Given the description of an element on the screen output the (x, y) to click on. 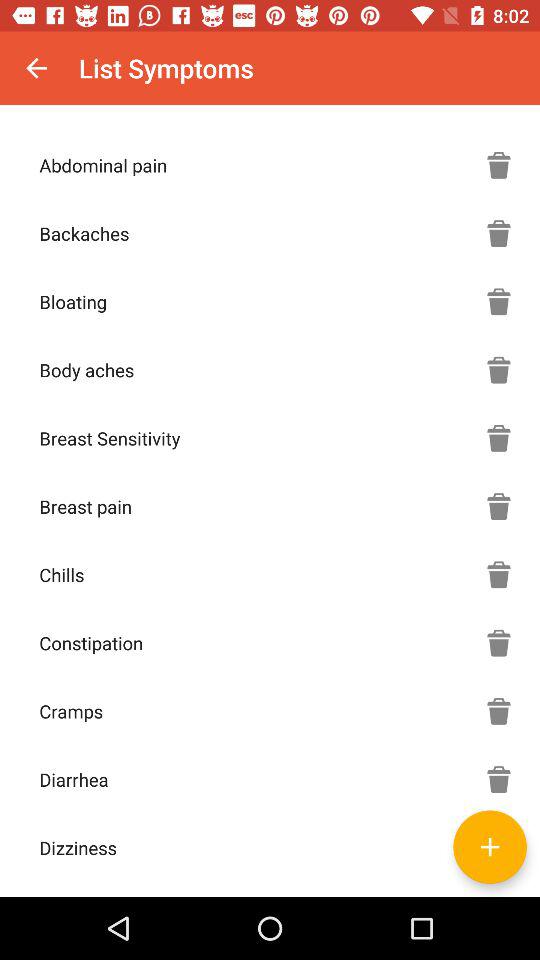
delete bloating symptom (499, 301)
